Given the description of an element on the screen output the (x, y) to click on. 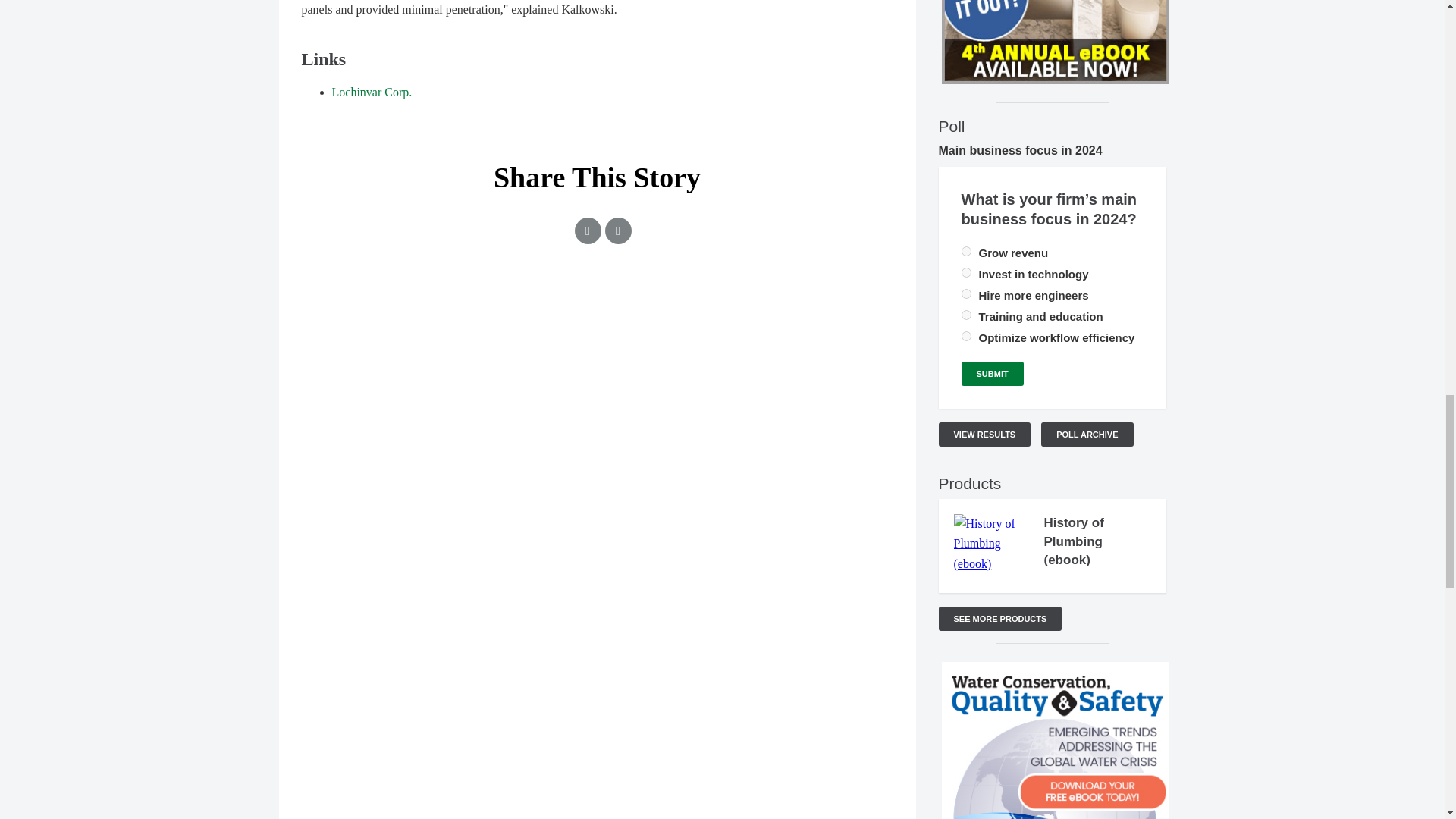
328 (965, 315)
Submit (991, 373)
324 (965, 251)
325 (965, 272)
326 (965, 293)
Interaction questions (597, 349)
327 (965, 336)
